Given the description of an element on the screen output the (x, y) to click on. 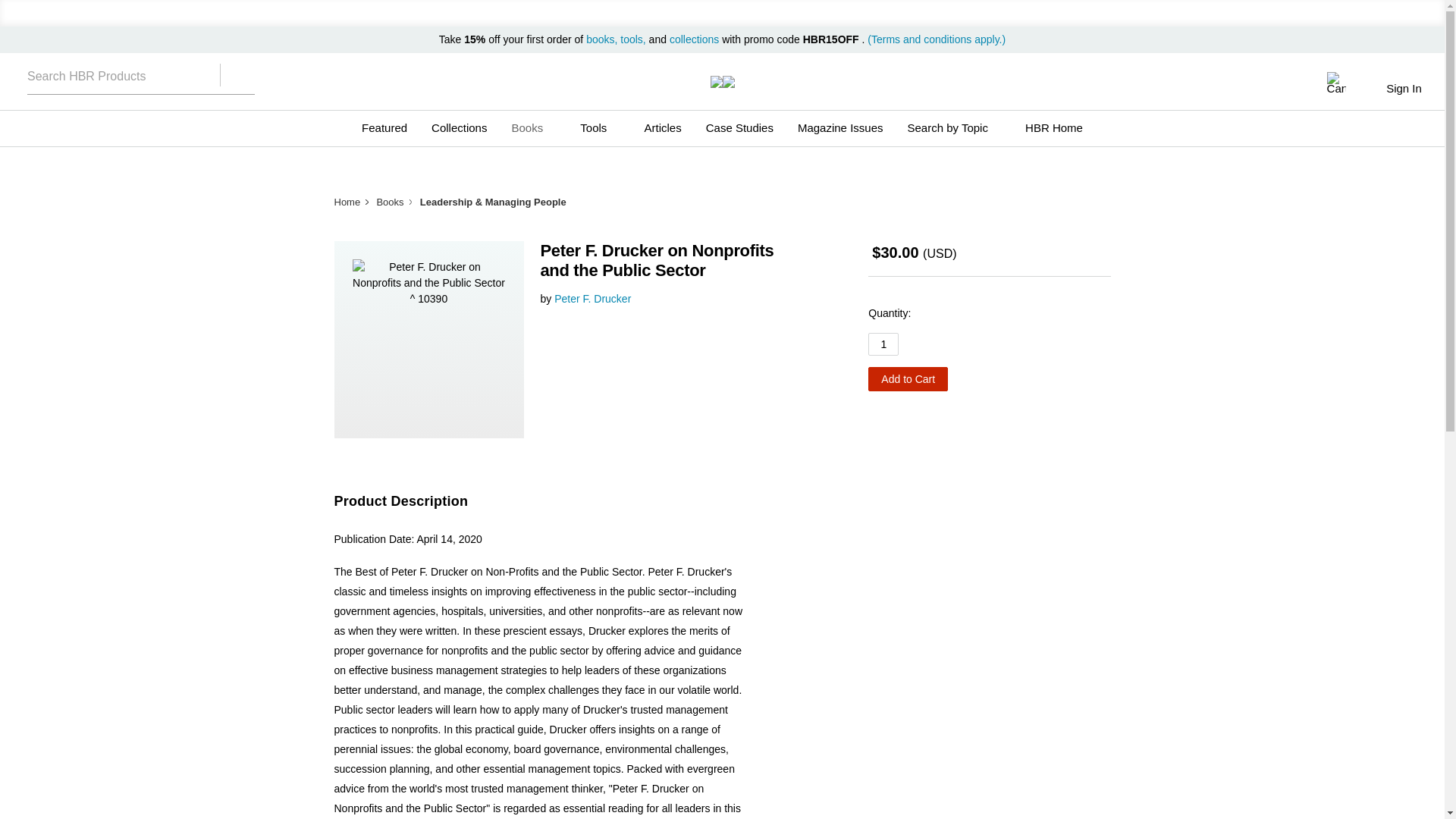
Featured (384, 127)
Collections (459, 127)
Tools (599, 127)
Books (533, 127)
Add to Cart (907, 378)
Sign In (1403, 88)
HBR.ORG - Prod (716, 81)
books, (603, 39)
1 (882, 343)
collections (694, 39)
